Given the description of an element on the screen output the (x, y) to click on. 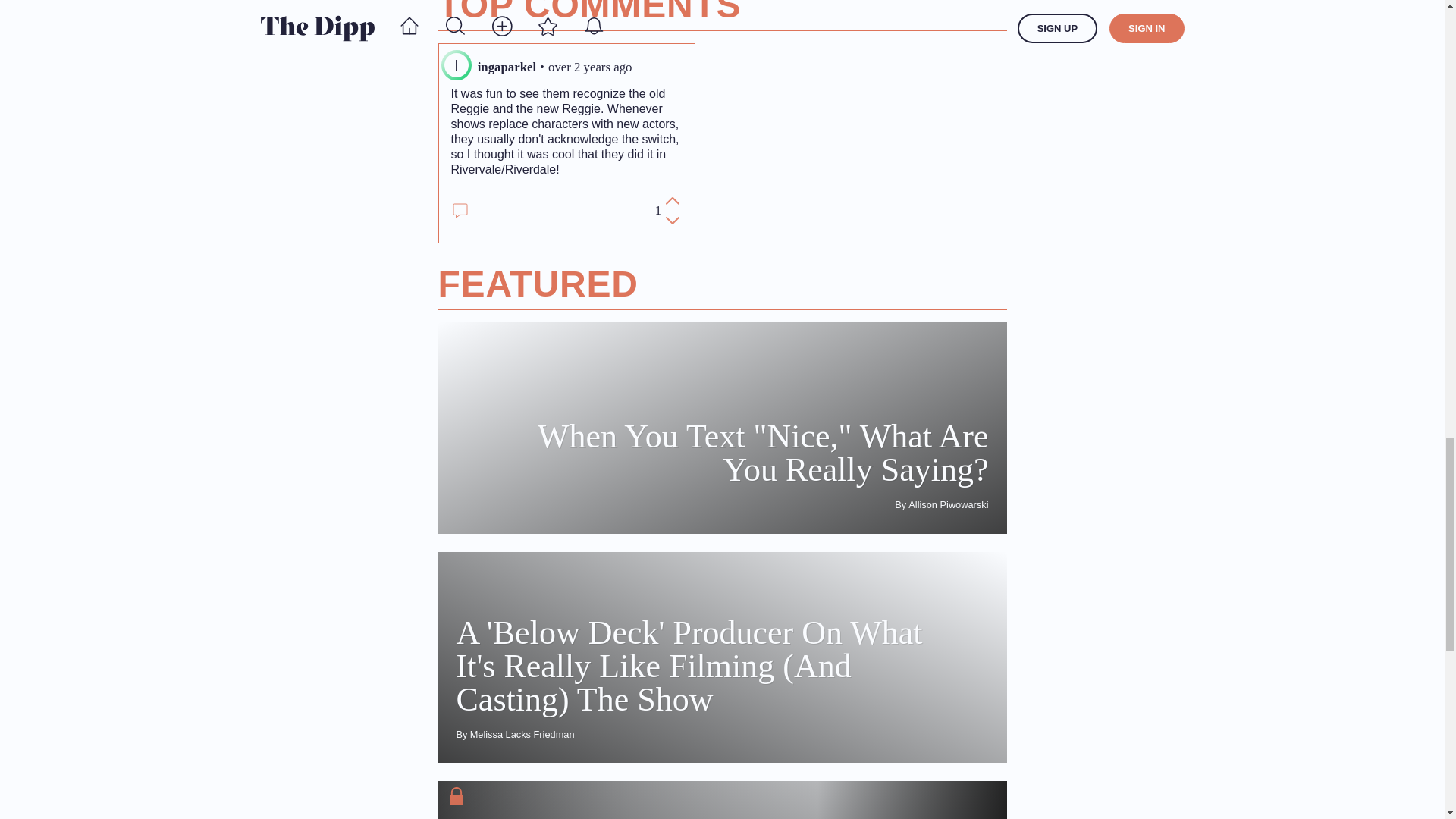
over 2 years ago (589, 66)
I (456, 64)
ingaparkel (506, 66)
